Given the description of an element on the screen output the (x, y) to click on. 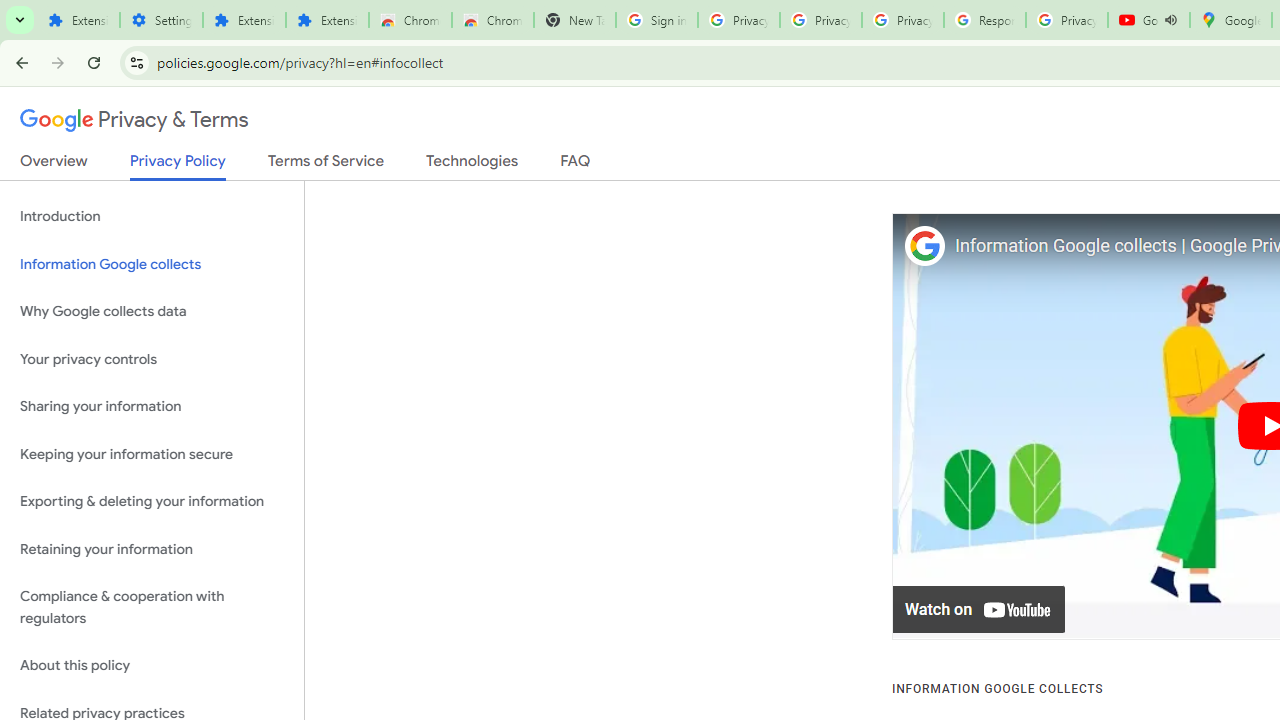
Photo image of Google (924, 246)
Extensions (326, 20)
Privacy Policy (177, 166)
Sign in - Google Accounts (656, 20)
Chrome Web Store (409, 20)
Extensions (78, 20)
Overview (54, 165)
